Given the description of an element on the screen output the (x, y) to click on. 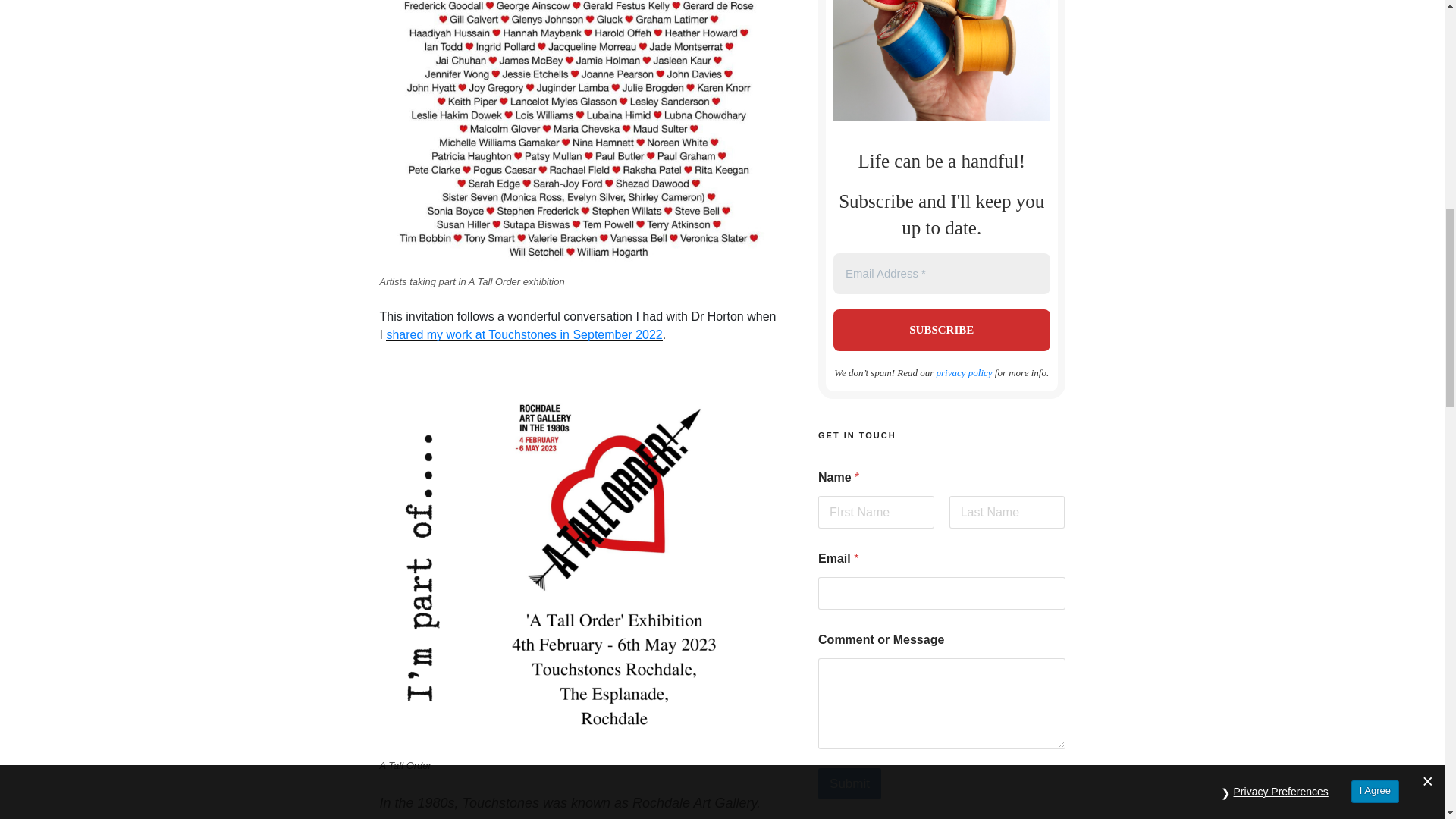
privacy policy (964, 372)
shared my work at Touchstones in September 2022 (523, 334)
SUBSCRIBE (940, 330)
SUBSCRIBE (940, 330)
Submit (849, 783)
Email Address (940, 273)
